Given the description of an element on the screen output the (x, y) to click on. 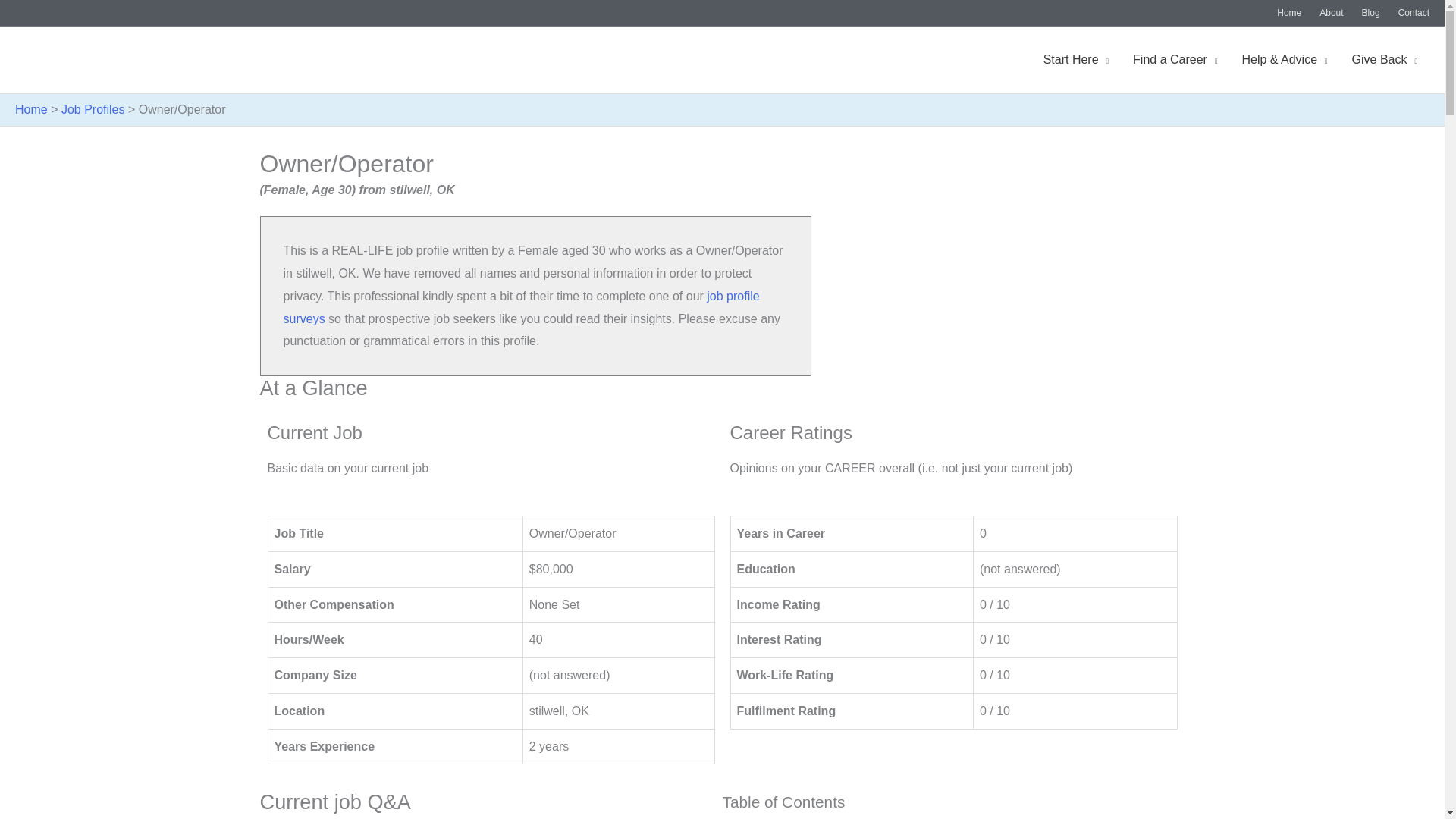
Start Here (1075, 60)
Go to Job Profiles. (93, 109)
Contact (1409, 12)
Blog (1370, 12)
About (1331, 12)
Home (1289, 12)
Find a Career (1174, 60)
Go to The Career Project. (31, 109)
